Given the description of an element on the screen output the (x, y) to click on. 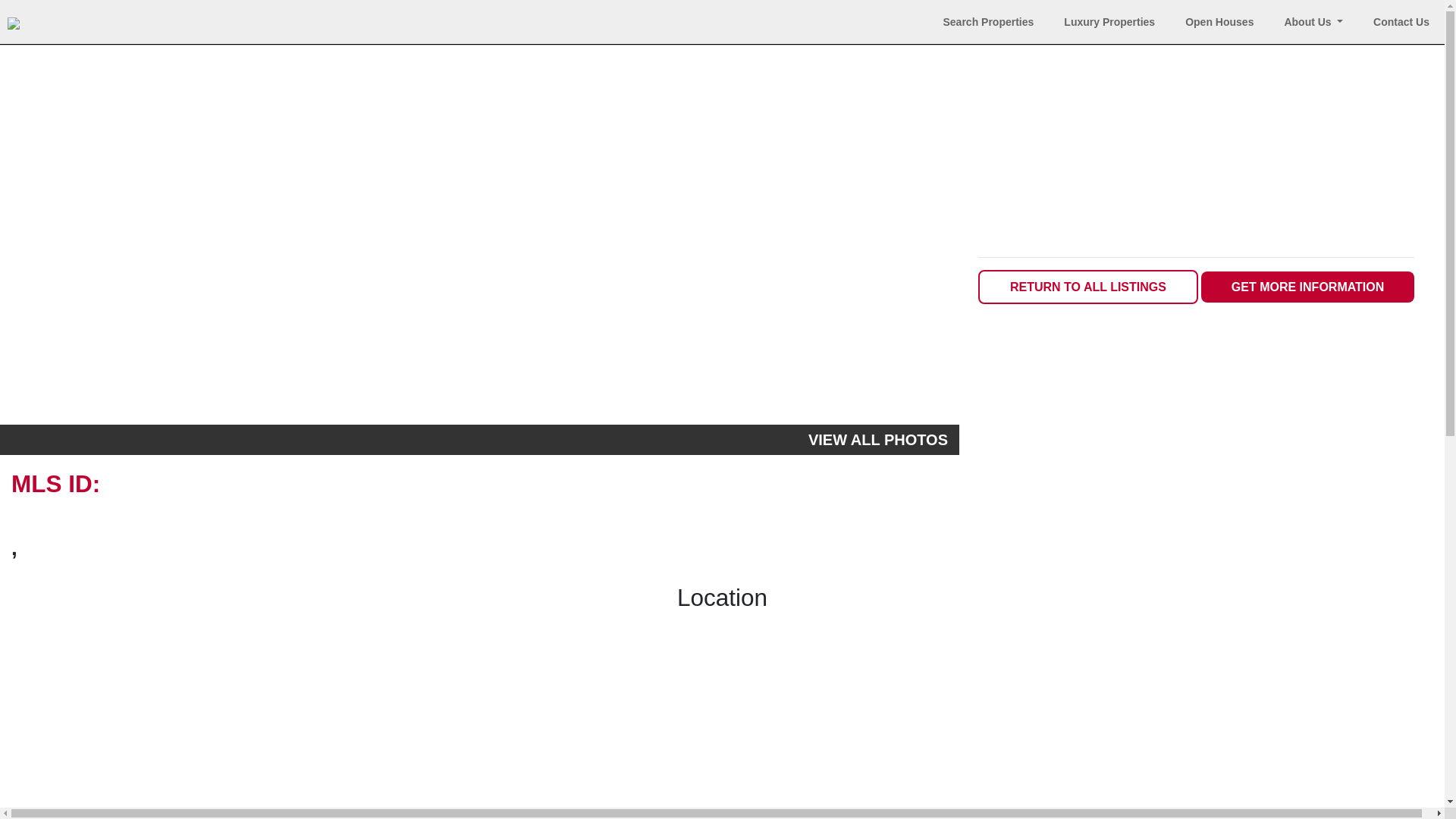
Open Houses (1219, 22)
Contact Us (1401, 22)
About Us (1313, 22)
Search Properties (988, 22)
GET MORE INFORMATION (1307, 286)
RETURN TO ALL LISTINGS (1088, 286)
Luxury Properties (1109, 22)
